Given the description of an element on the screen output the (x, y) to click on. 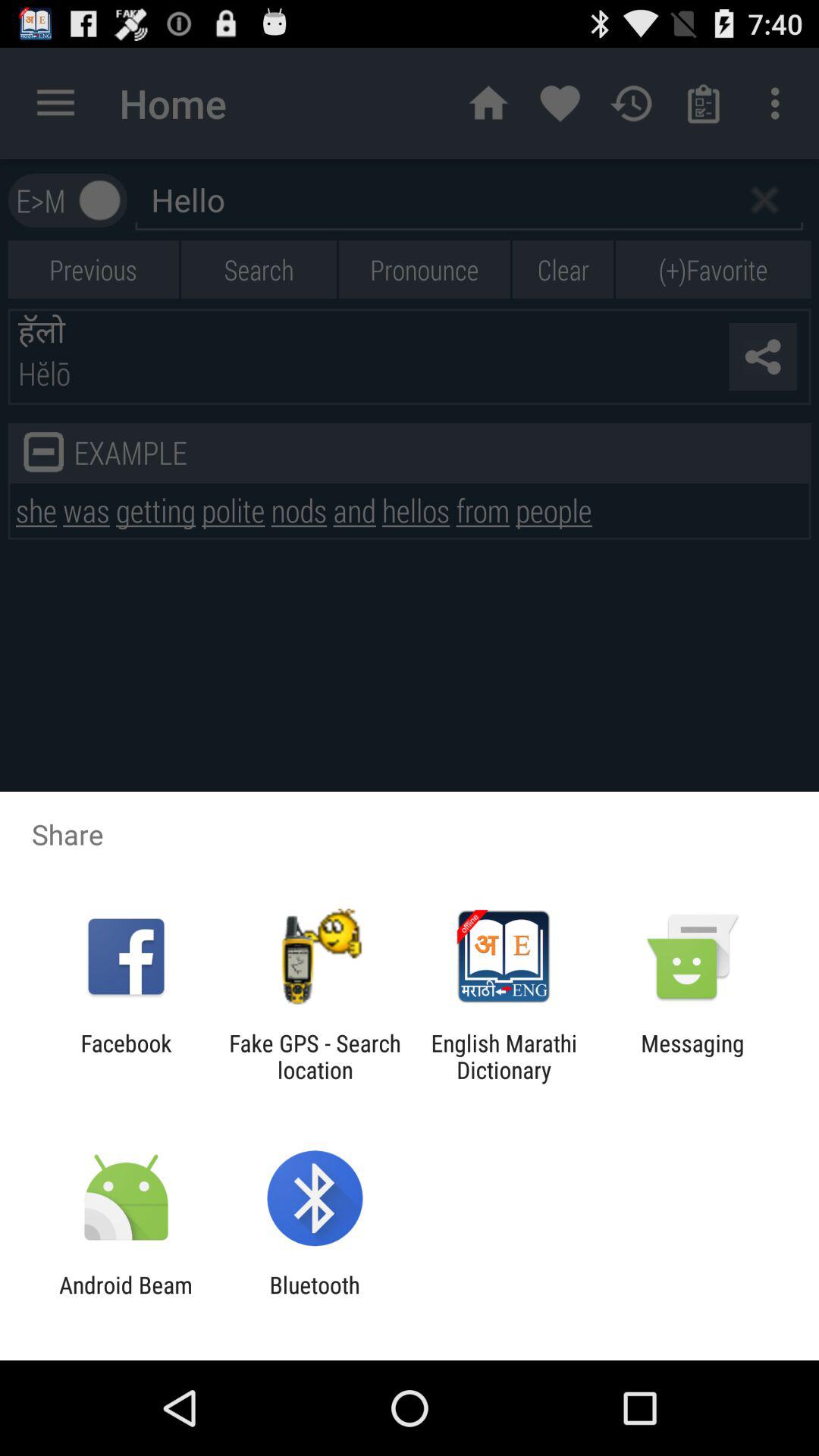
swipe until the english marathi dictionary item (503, 1056)
